Given the description of an element on the screen output the (x, y) to click on. 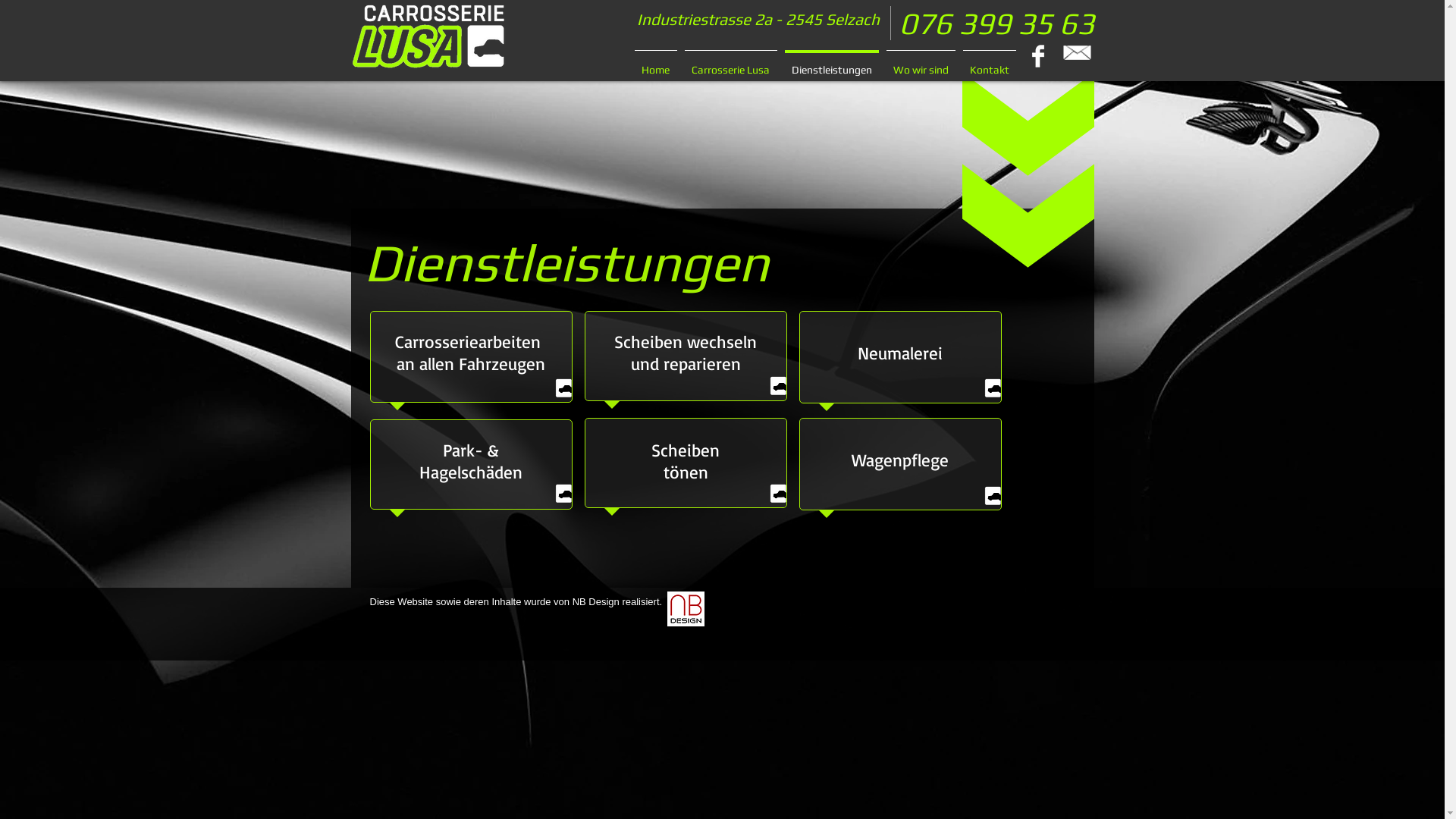
an allen Fahrzeugen Element type: text (470, 363)
autolusa2.png Element type: hover (778, 492)
autolusa2.png Element type: hover (563, 387)
Dienstleistungen Element type: text (831, 63)
Scheiben wechseln und reparieren Element type: text (685, 352)
Carrosseriearbeiten  Element type: text (470, 341)
Carrosserie Lusa Element type: text (730, 63)
Wagenpflege Element type: text (899, 460)
Scheiben Element type: text (685, 450)
autolusa2.png Element type: hover (778, 385)
Wo wir sind Element type: text (920, 63)
autolusa2.png Element type: hover (992, 495)
Neumalerei Element type: text (899, 353)
Kontakt Element type: text (988, 63)
Home Element type: text (655, 63)
autolusa2.png Element type: hover (563, 492)
autolusa2.png Element type: hover (992, 387)
